Given the description of an element on the screen output the (x, y) to click on. 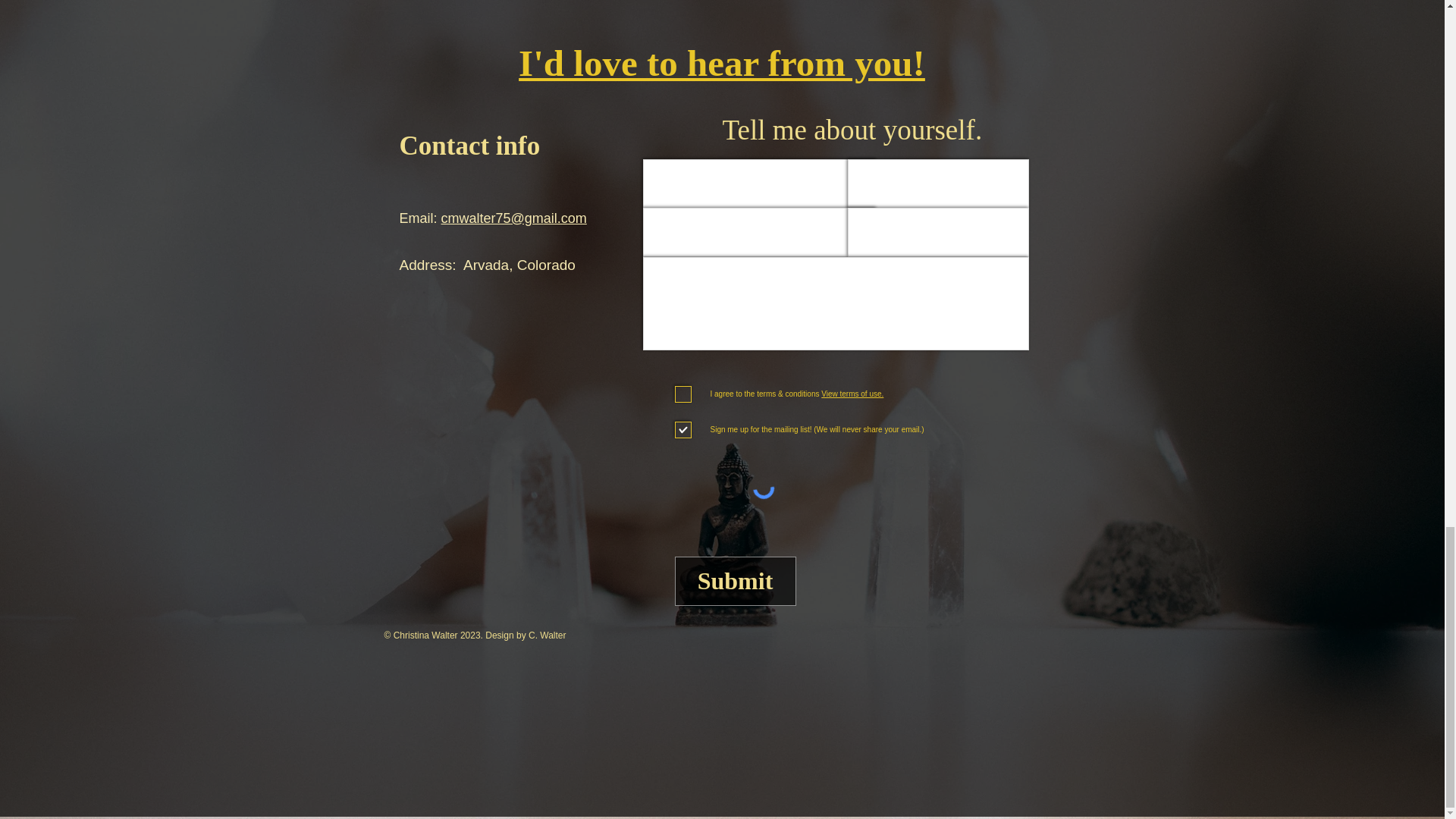
ail.com (564, 218)
Submit (735, 581)
View terms of use. (850, 393)
